Given the description of an element on the screen output the (x, y) to click on. 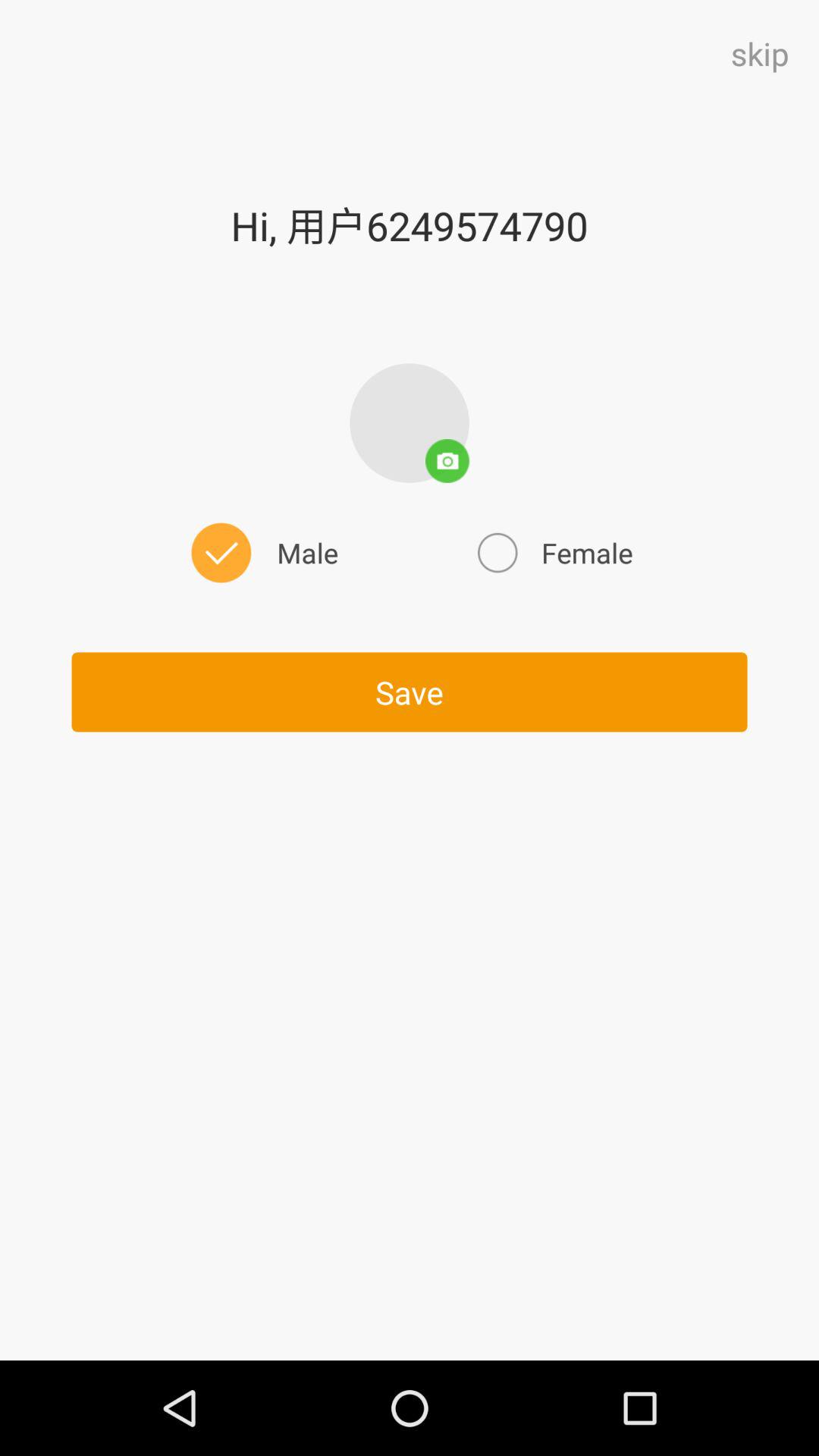
swipe to female item (553, 552)
